Given the description of an element on the screen output the (x, y) to click on. 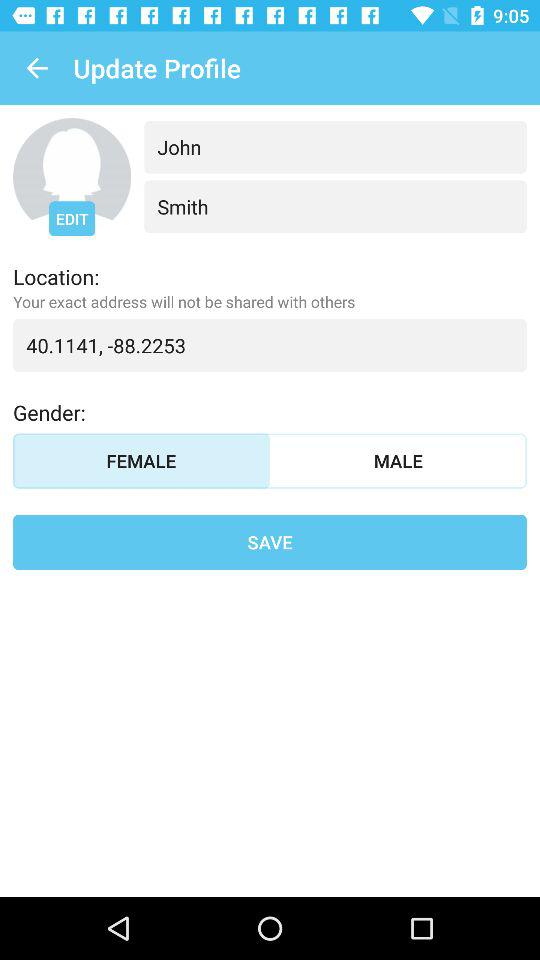
tap the item above the save item (398, 460)
